Given the description of an element on the screen output the (x, y) to click on. 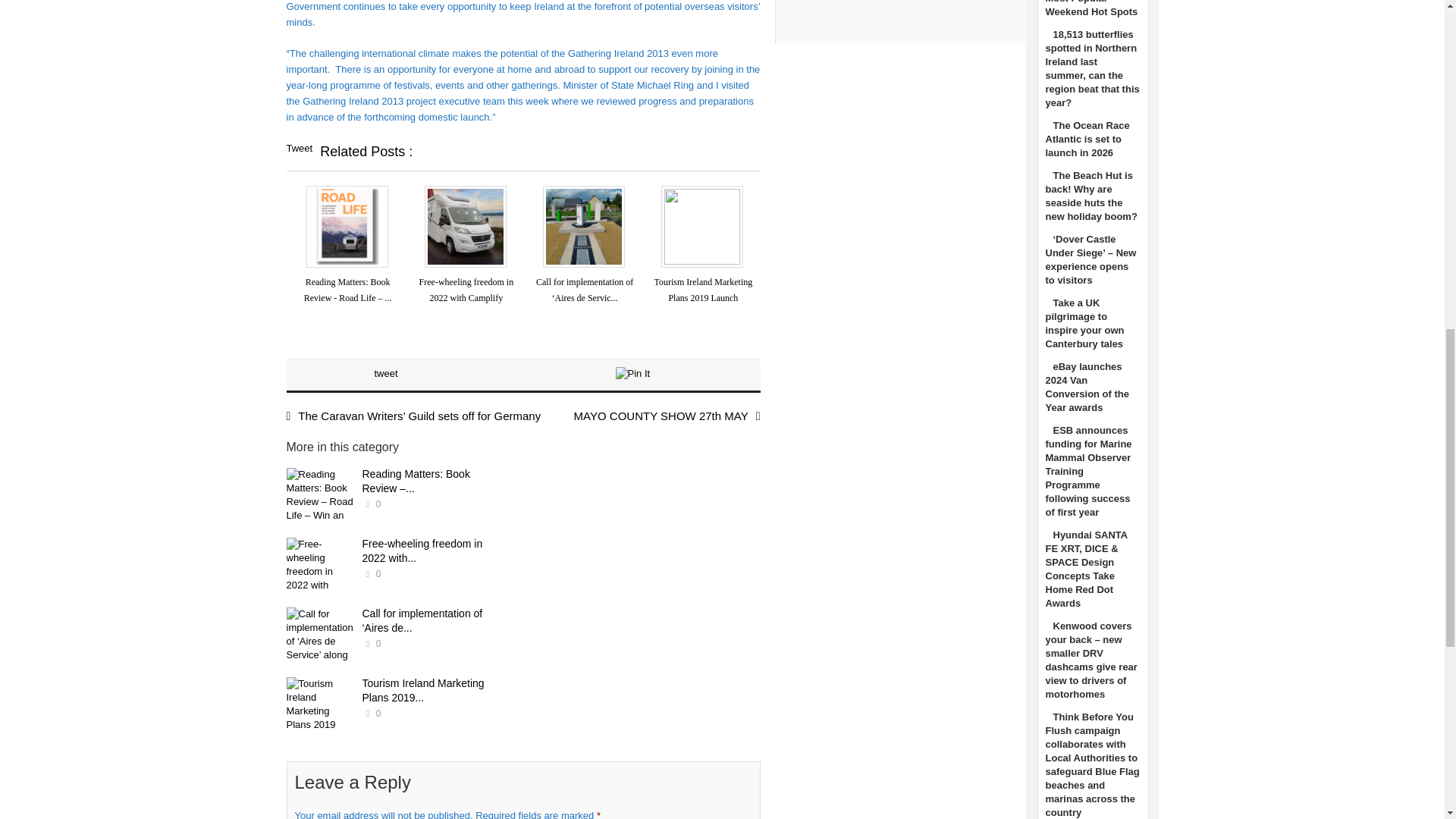
Tweet (299, 147)
Tourism Ireland Marketing Plans 2019 Launch (320, 704)
Free-wheeling freedom in 2022 with Camplify (320, 565)
Pin It (632, 373)
Free-wheeling freedom in 2022 with Camplify (466, 289)
Tourism Ireland Marketing Plans 2019 Launch (702, 289)
